Given the description of an element on the screen output the (x, y) to click on. 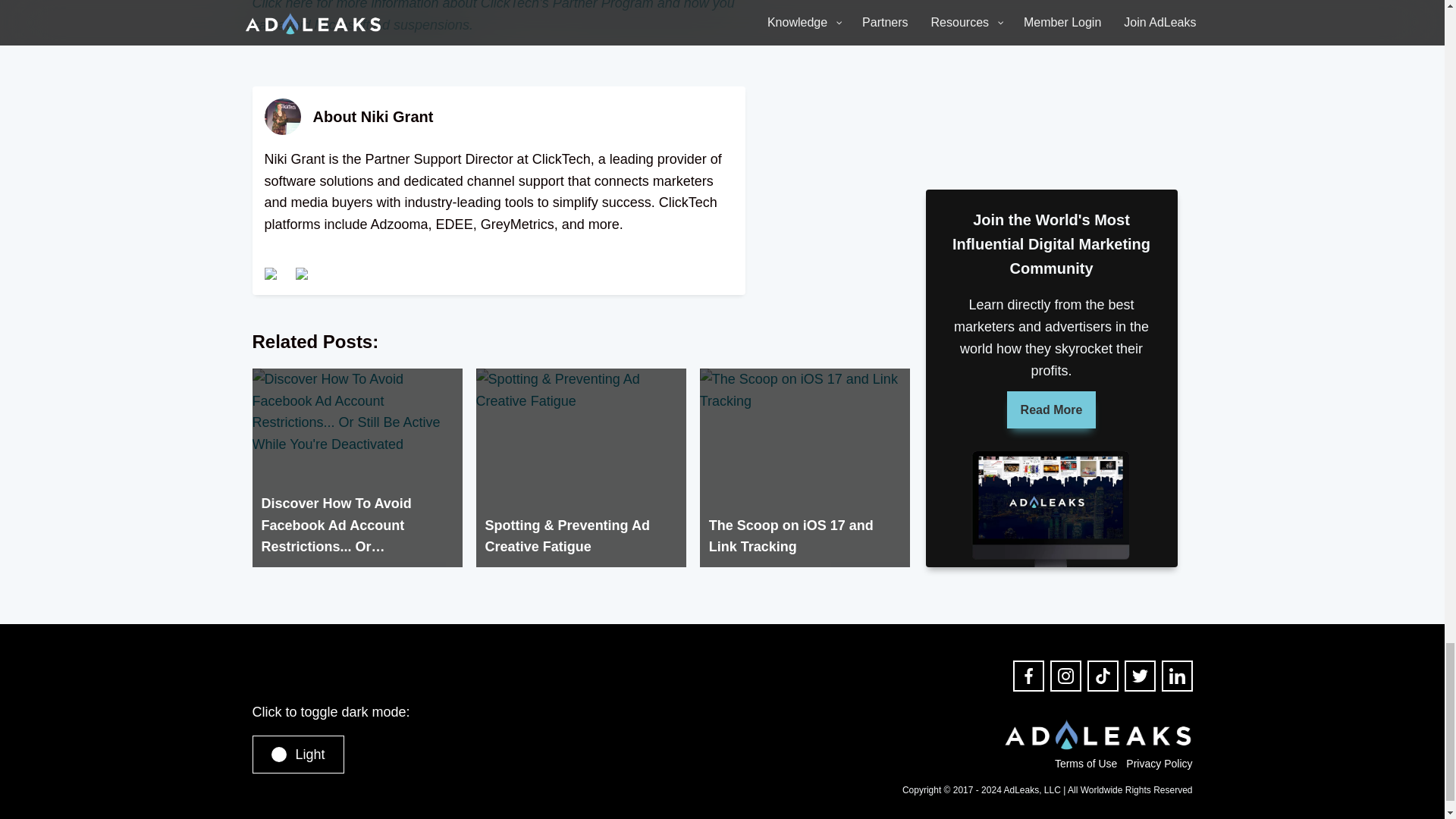
The Scoop on iOS 17 and Link Tracking (805, 467)
Link to Niki Grant at ClickTech's twitter (303, 274)
The Scoop on iOS 17 and Link Tracking (805, 467)
Link to Niki Grant at ClickTech's linkedin (271, 274)
